Given the description of an element on the screen output the (x, y) to click on. 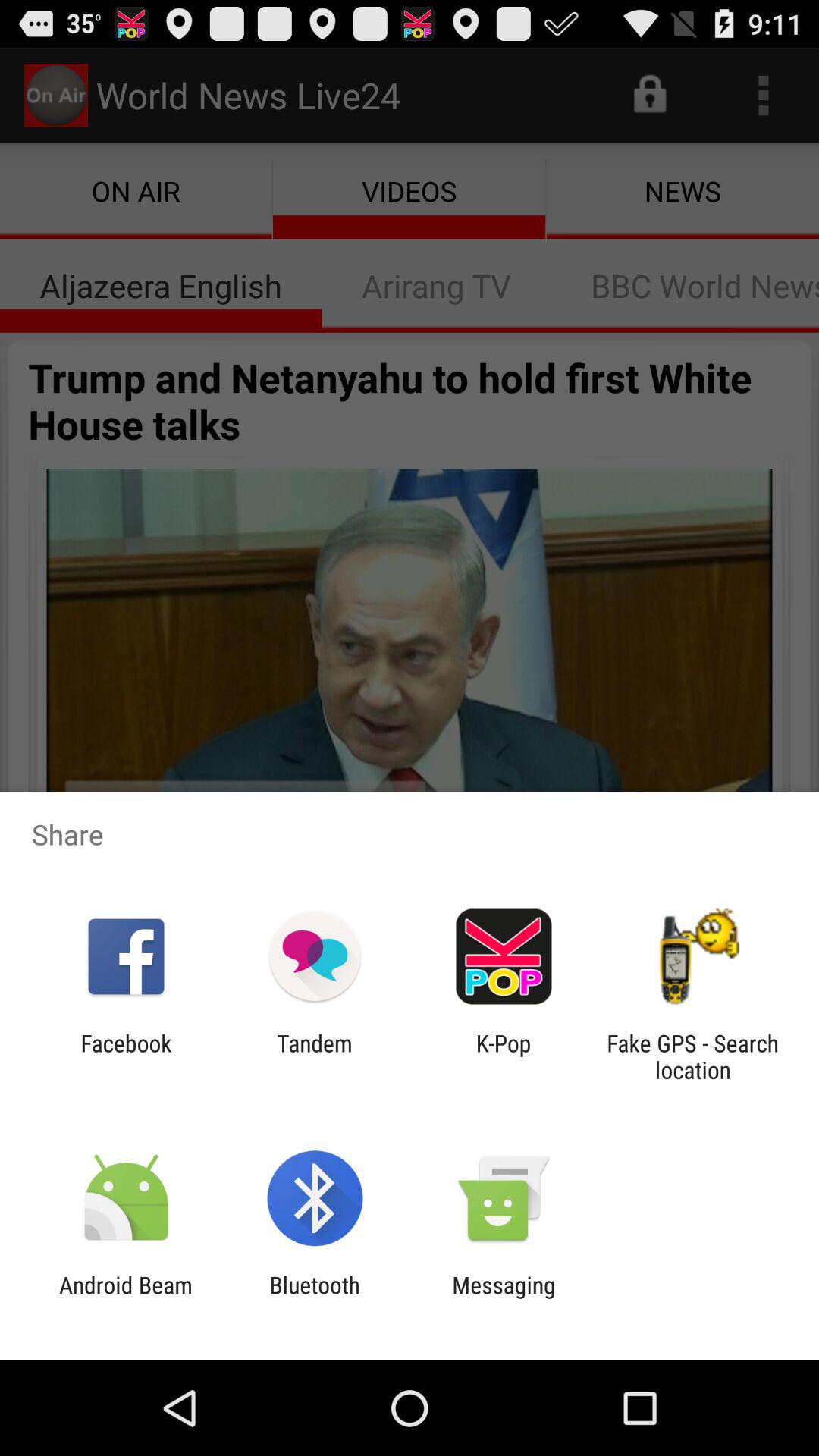
select the icon next to fake gps search app (503, 1056)
